Given the description of an element on the screen output the (x, y) to click on. 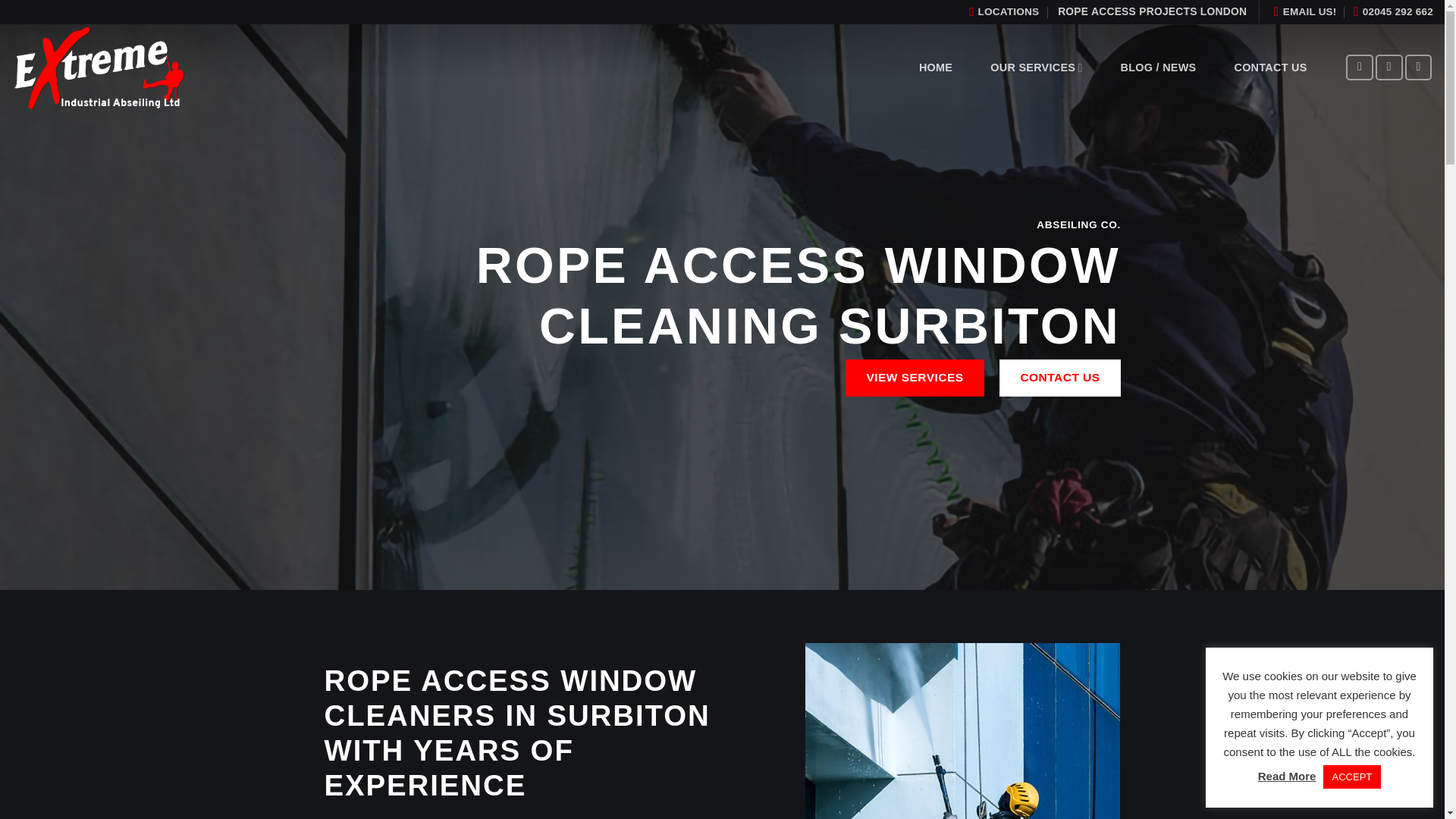
02045 292 662 (1393, 12)
LOCATIONS (1007, 11)
ROPE ACCESS PROJECTS LONDON (1152, 12)
EMAIL US! (1305, 12)
OUR SERVICES (1035, 67)
VIEW SERVICES (914, 377)
Abseiling Window Cleaning London (102, 67)
HOME (935, 67)
CONTACT US (1059, 377)
CONTACT US (1269, 67)
